Given the description of an element on the screen output the (x, y) to click on. 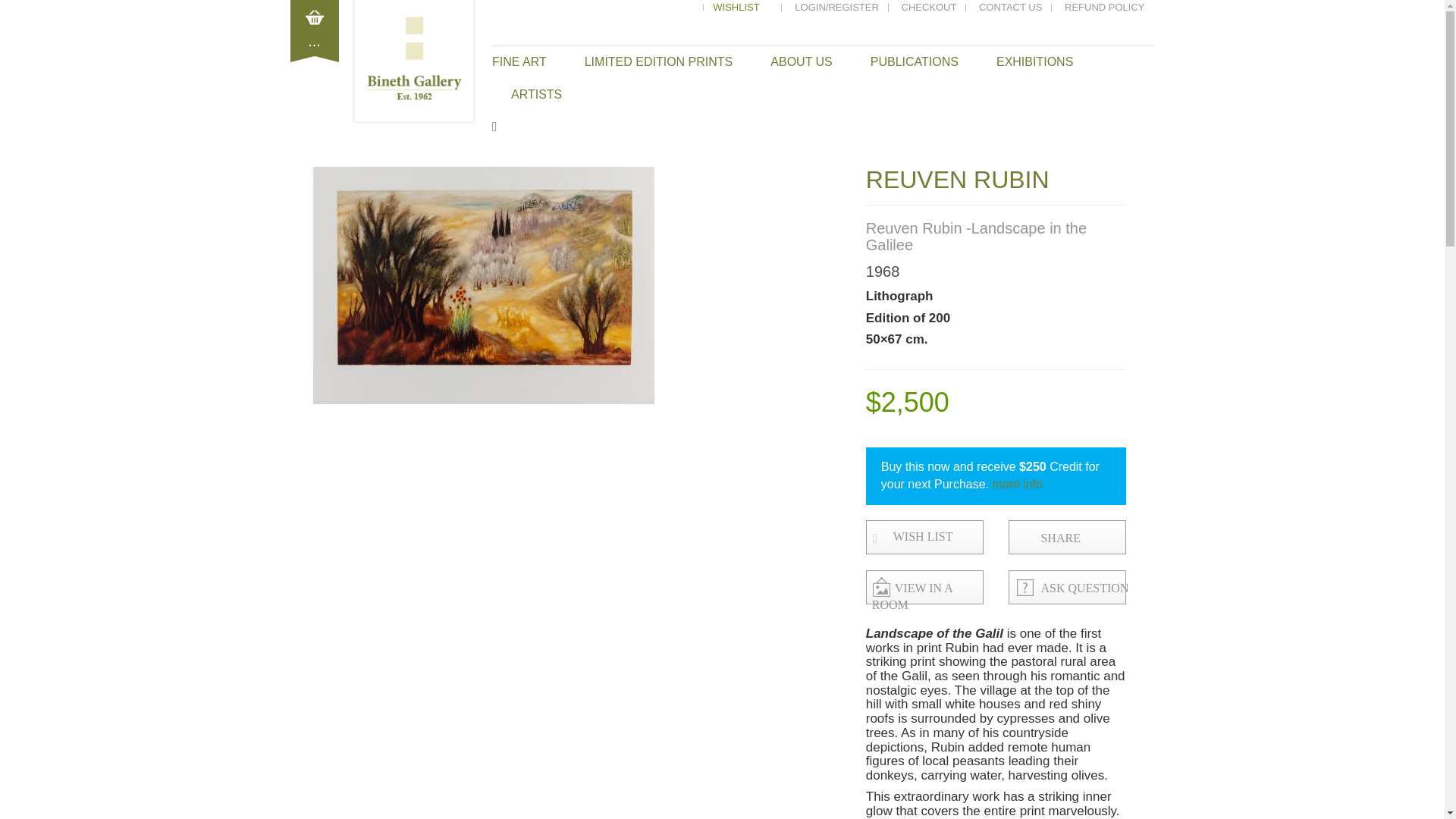
ABOUT US (801, 61)
LIMITED EDITION PRINTS (659, 61)
HOME (687, 7)
CONTACT US (1010, 7)
more info (1017, 483)
FINE ART (529, 61)
SHARE (1077, 537)
REFUND POLICY (1104, 7)
EXHIBITIONS (1034, 61)
CHECKOUT (928, 7)
PUBLICATIONS (913, 61)
ARTISTS (536, 94)
WISHLIST (741, 7)
REUVEN RUBIN (957, 179)
